Given the description of an element on the screen output the (x, y) to click on. 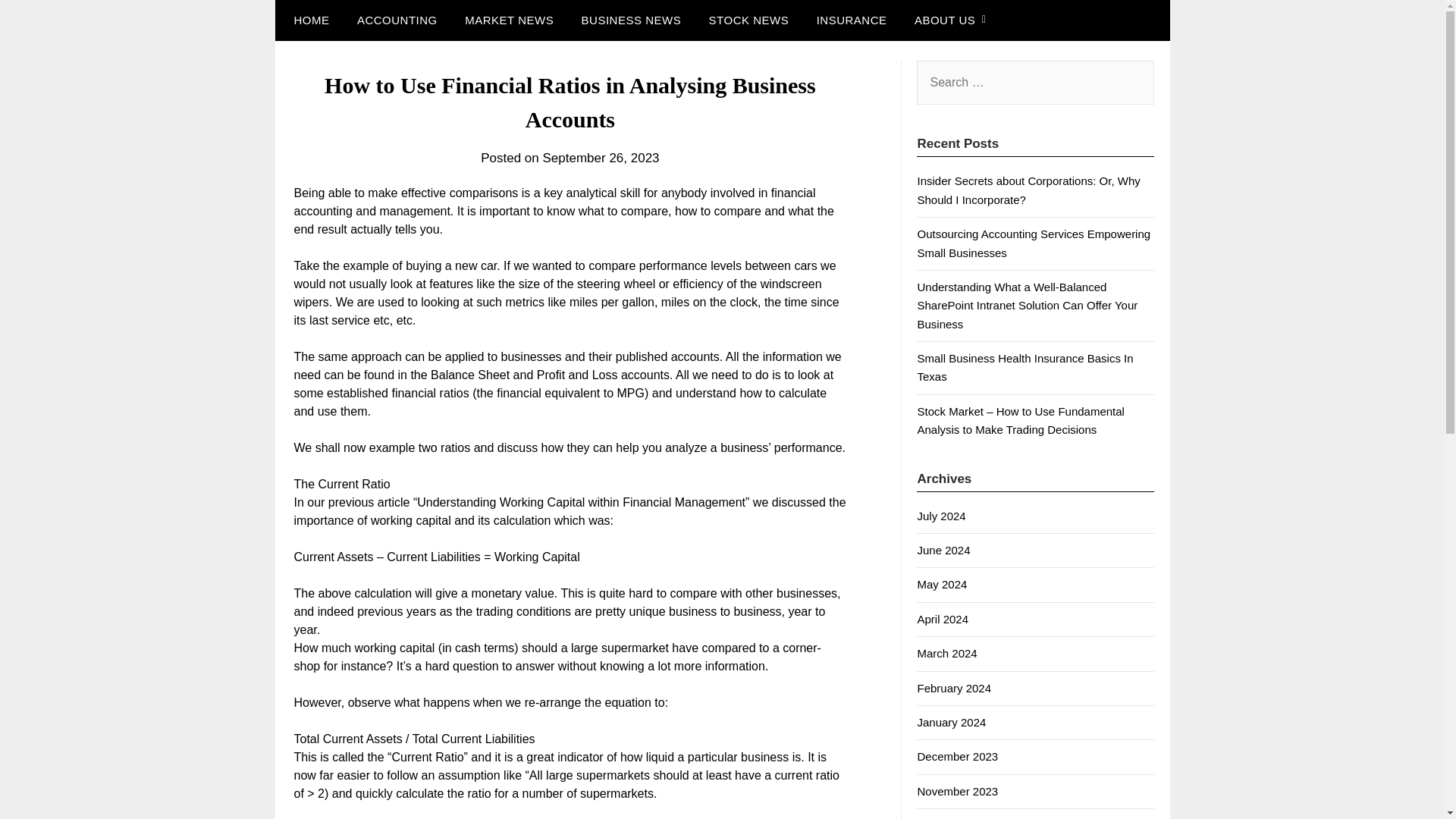
December 2023 (957, 756)
STOCK NEWS (749, 20)
MARKET NEWS (509, 20)
June 2024 (943, 549)
April 2024 (942, 618)
May 2024 (941, 584)
ABOUT US (944, 20)
January 2024 (951, 721)
BUSINESS NEWS (631, 20)
Small Business Health Insurance Basics In Texas (1024, 367)
Search (38, 22)
INSURANCE (852, 20)
February 2024 (954, 687)
